Given the description of an element on the screen output the (x, y) to click on. 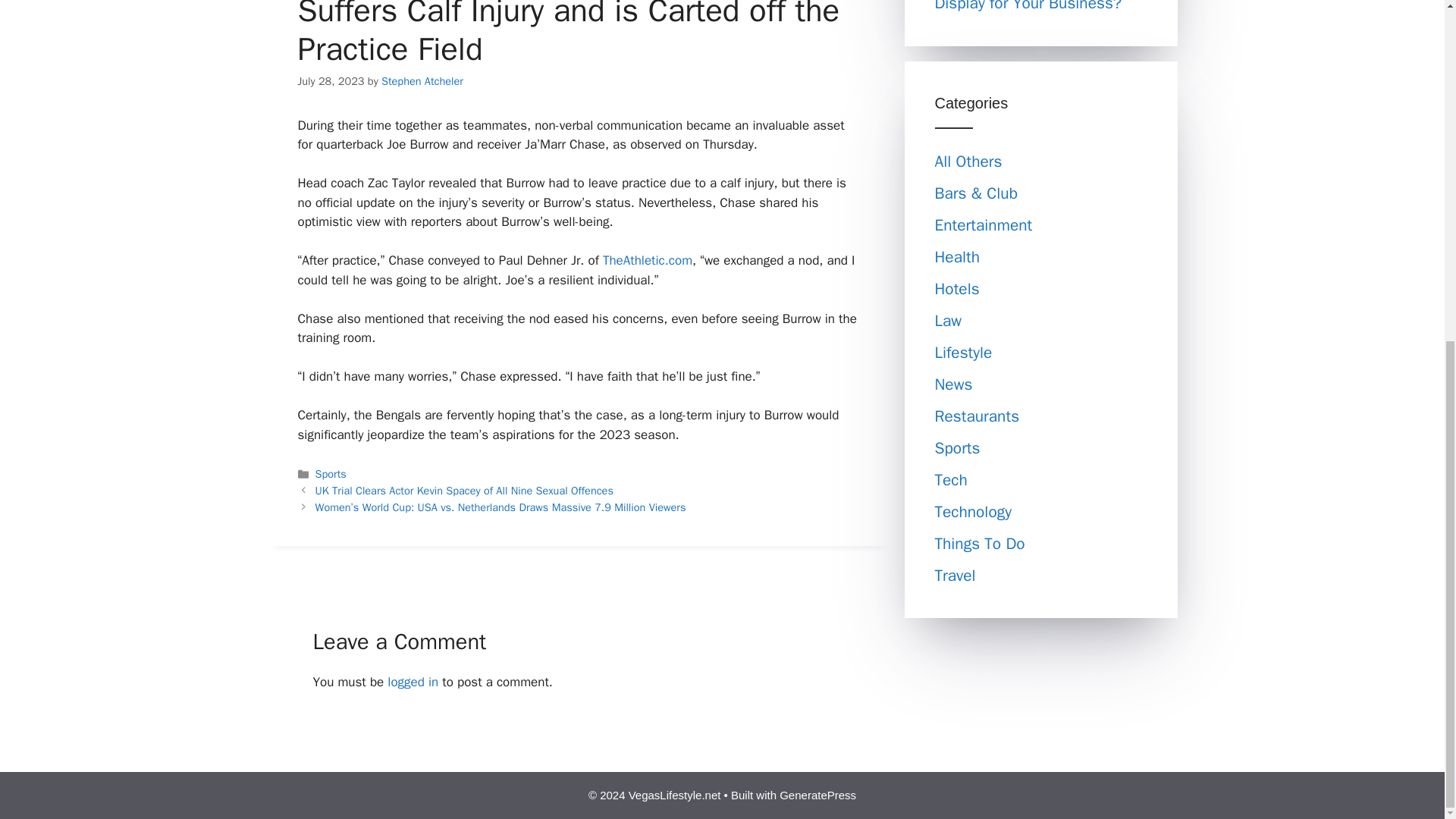
Law (947, 320)
TheAthletic.com (647, 260)
Entertainment (983, 225)
Lifestyle (962, 352)
Hotels (956, 288)
Technology (972, 511)
GeneratePress (817, 794)
View all posts by Stephen Atcheler (422, 80)
Tech (950, 479)
Sports (956, 447)
logged in (412, 682)
How to Choose the Right LED Display for Your Business? (1036, 6)
Restaurants (976, 415)
Sports (330, 473)
Health (956, 256)
